Given the description of an element on the screen output the (x, y) to click on. 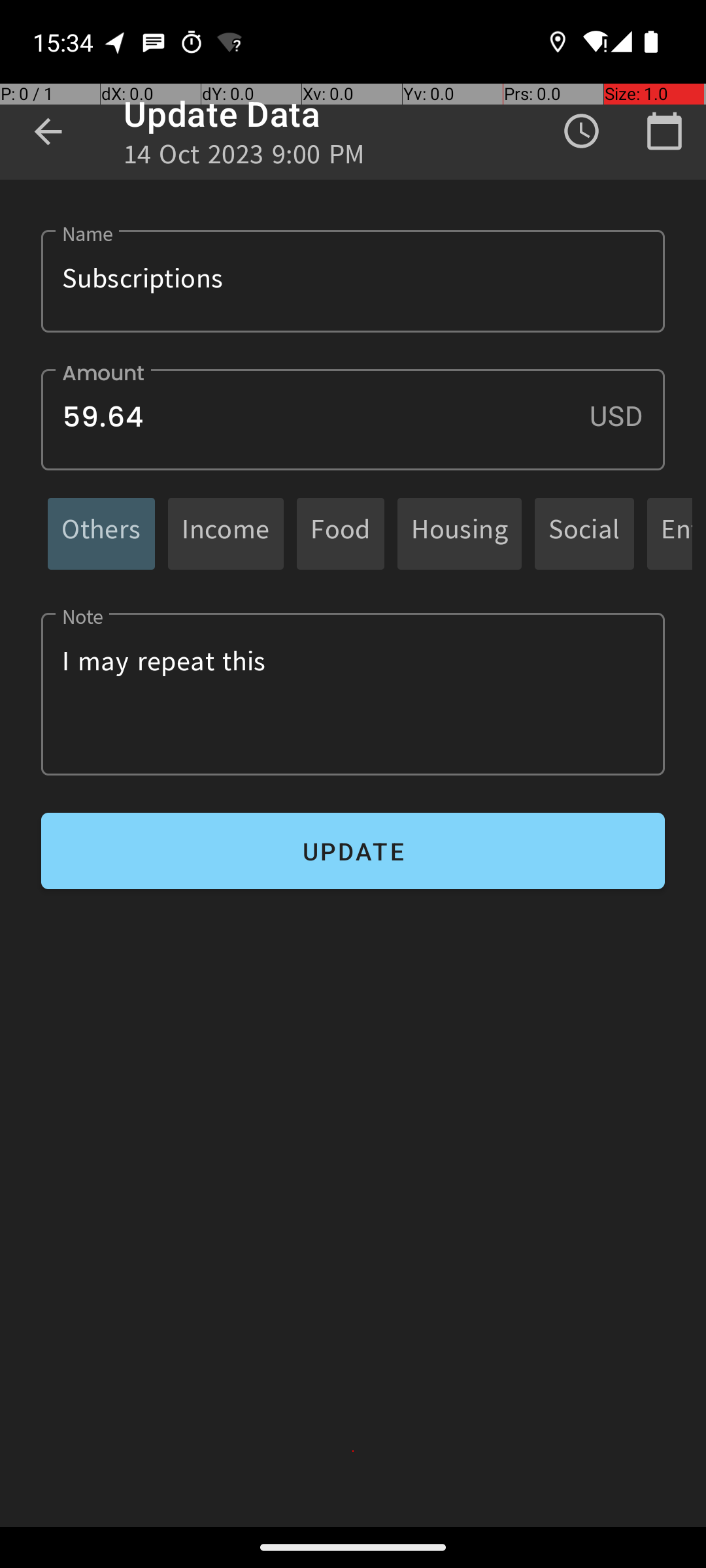
14 Oct 2023 9:00 PM Element type: android.widget.TextView (244, 157)
59.64 Element type: android.widget.EditText (352, 419)
Others Element type: android.widget.TextView (101, 533)
